Given the description of an element on the screen output the (x, y) to click on. 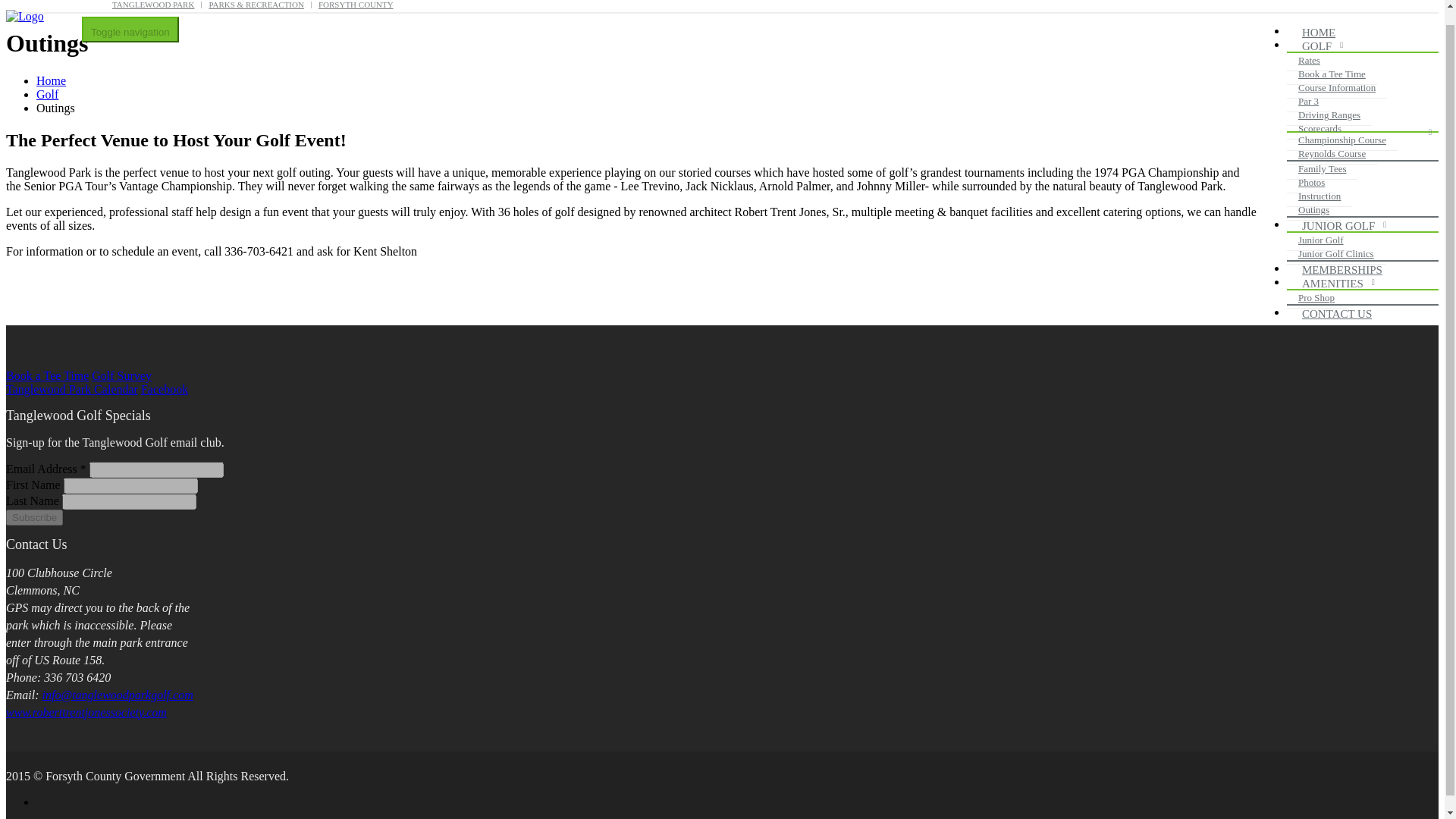
Subscribe (33, 517)
Toggle navigation (130, 29)
Golf Survey (121, 375)
Home (50, 80)
Outings (1313, 209)
Book a Tee Time (1332, 74)
Subscribe (33, 517)
JUNIOR GOLF (1342, 226)
Family Tees (1321, 168)
GOLF (1320, 46)
